Given the description of an element on the screen output the (x, y) to click on. 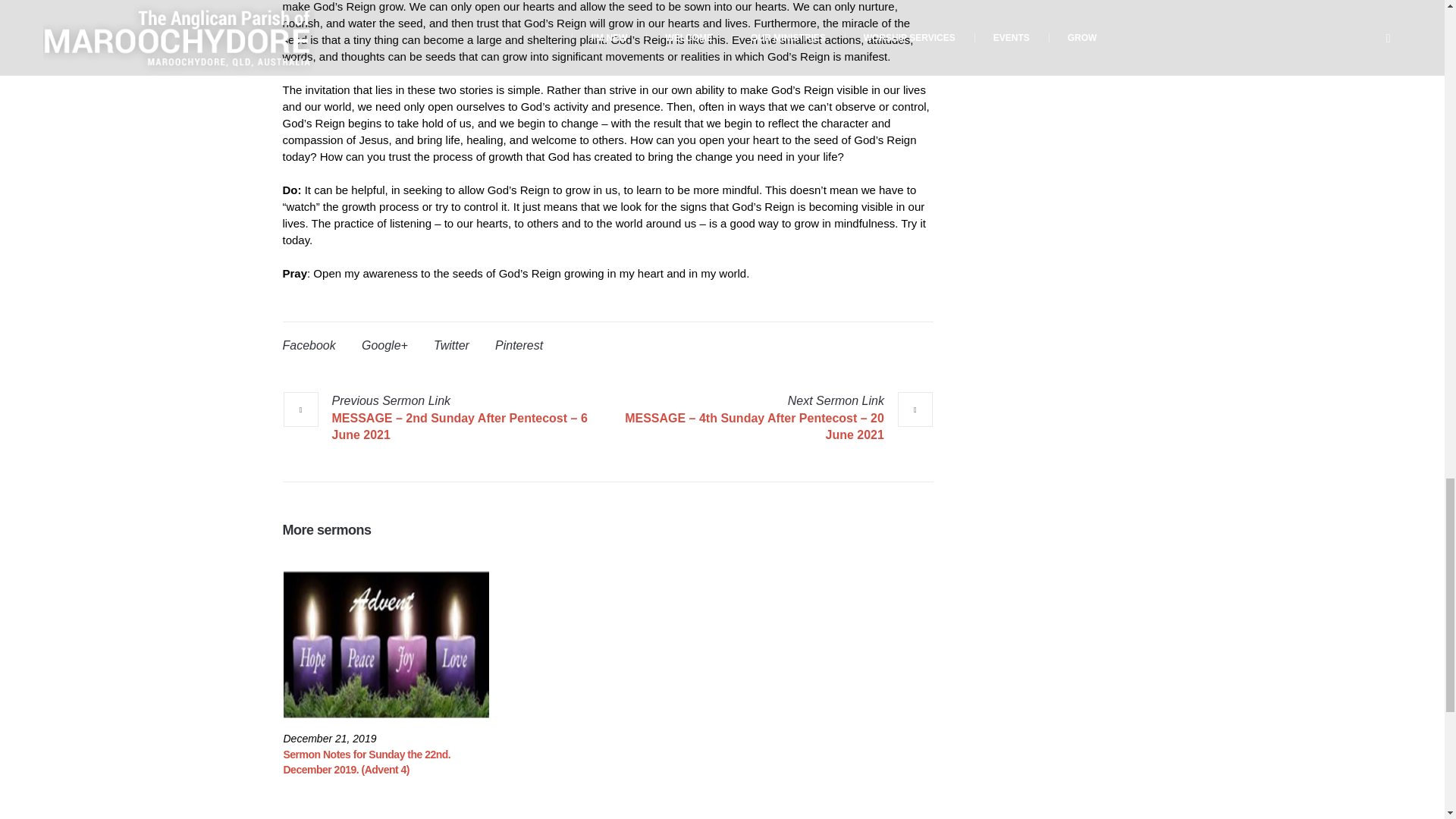
December 21, 2019 (330, 738)
